Given the description of an element on the screen output the (x, y) to click on. 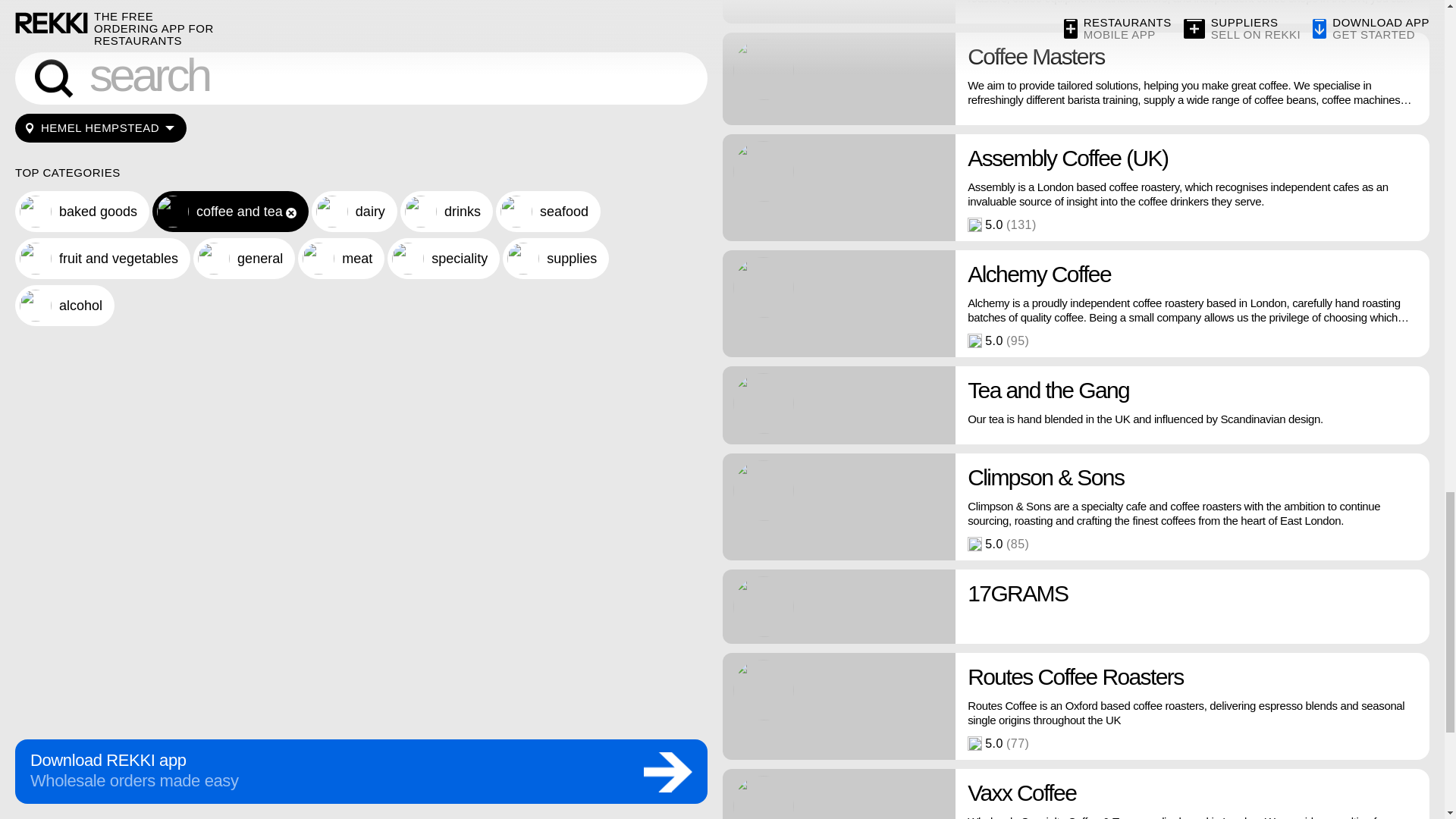
17GRAMS (1075, 606)
